Given the description of an element on the screen output the (x, y) to click on. 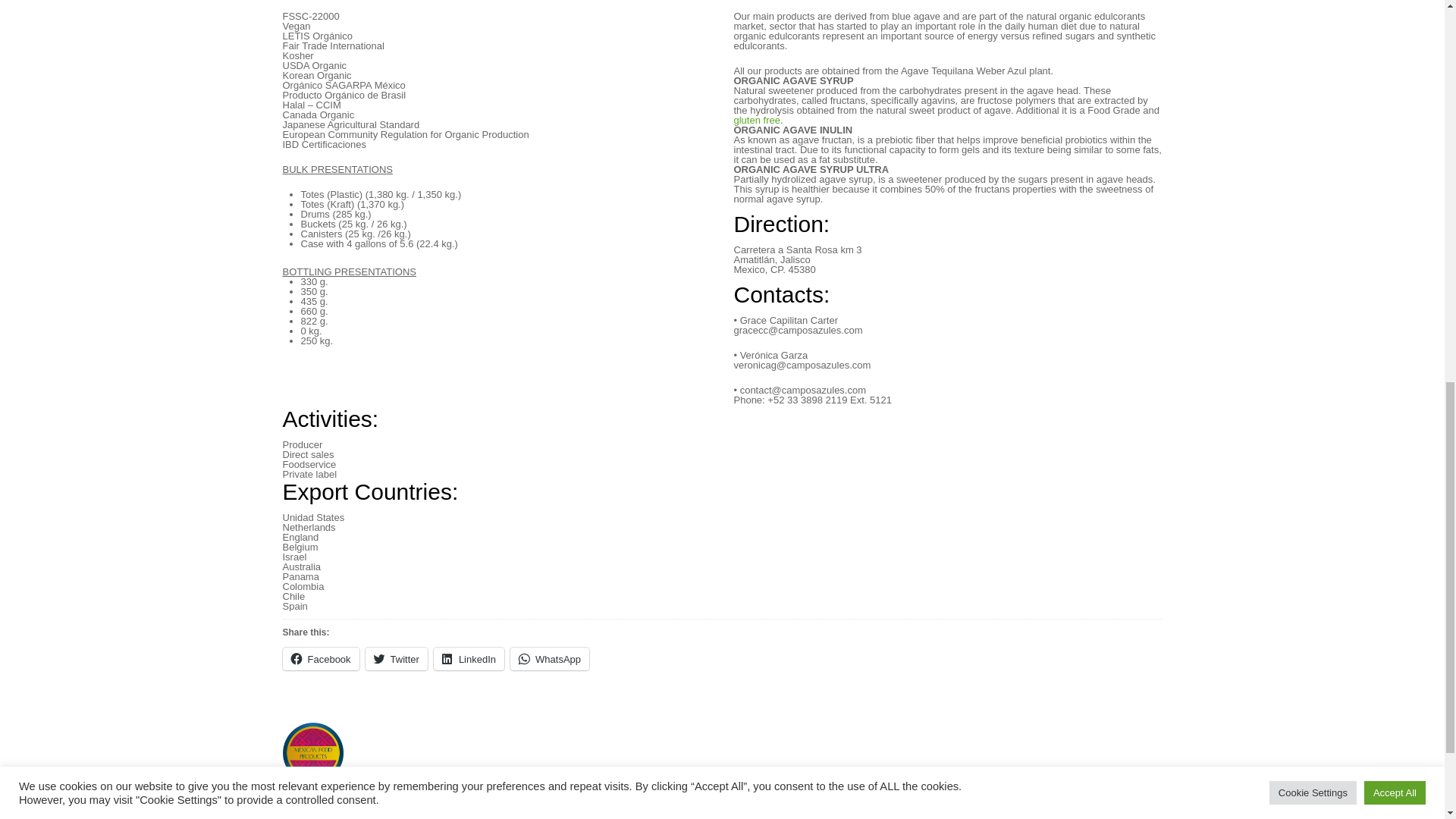
Facebook (320, 658)
WhatsApp (550, 658)
 gluten free (756, 120)
gluten free (756, 120)
LinkedIn (468, 658)
Click to share on Facebook (320, 658)
Twitter (396, 658)
